Given the description of an element on the screen output the (x, y) to click on. 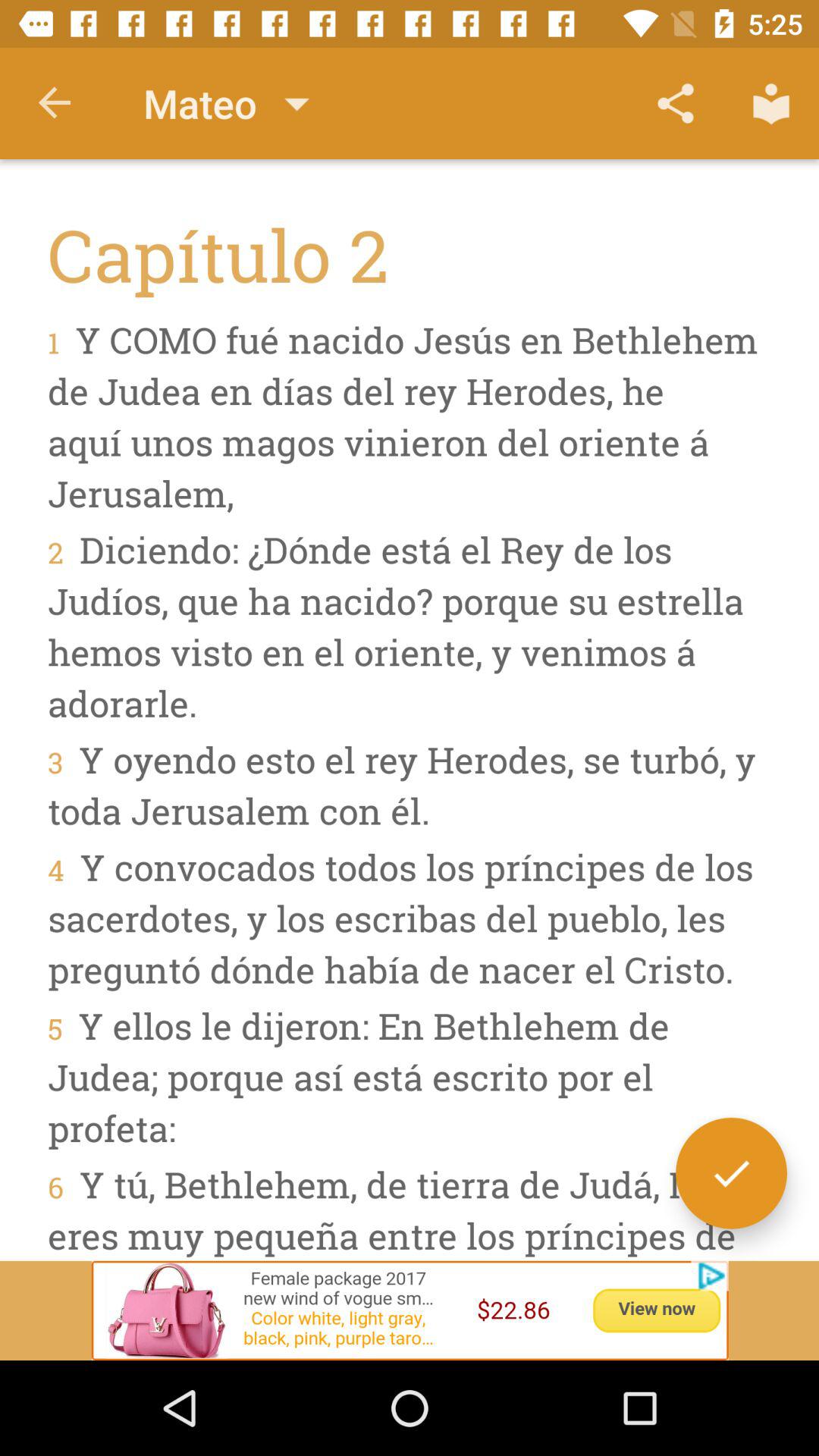
launch icon at the bottom right corner (731, 1173)
